Given the description of an element on the screen output the (x, y) to click on. 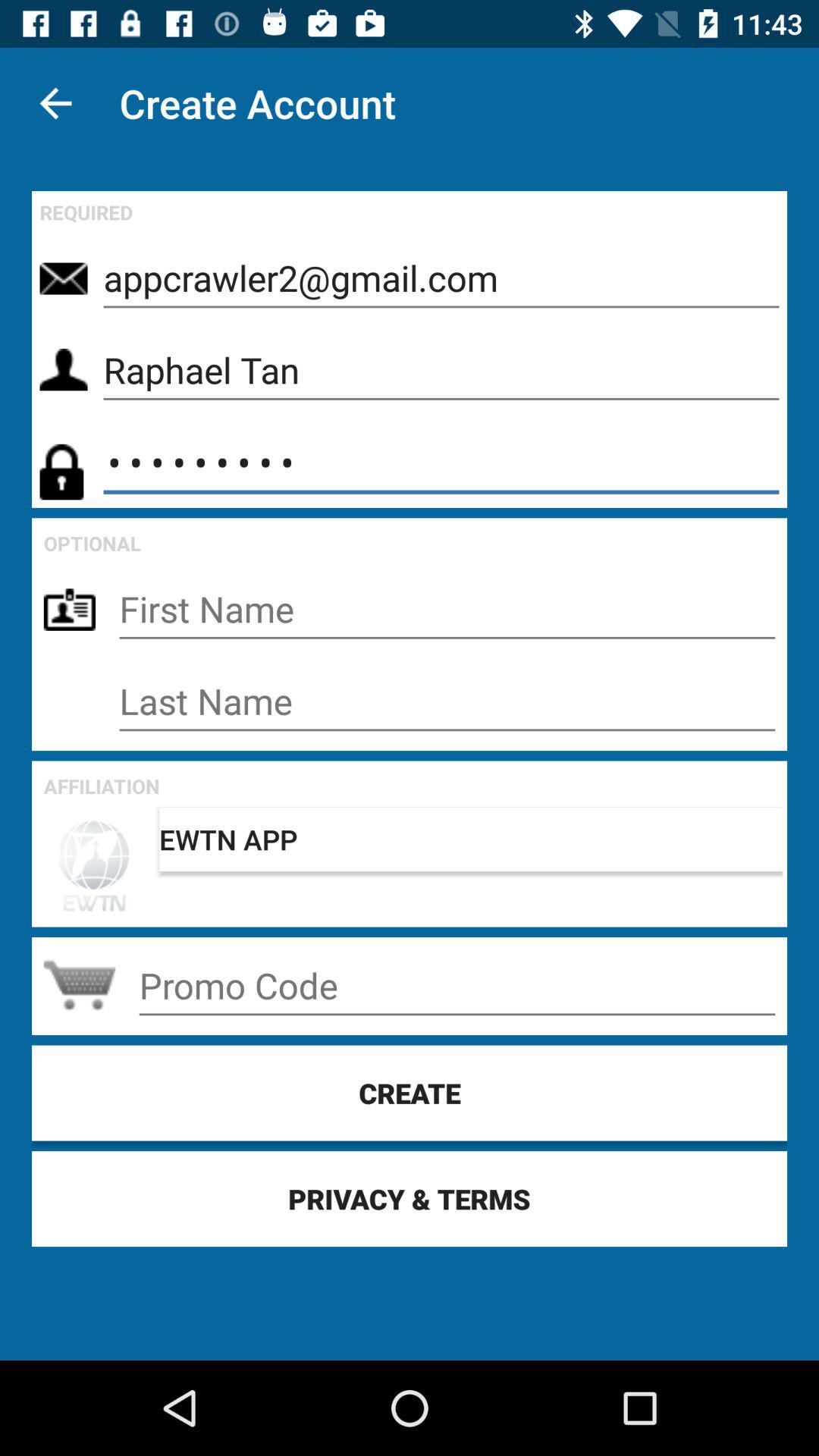
talvez seja isso (447, 609)
